Given the description of an element on the screen output the (x, y) to click on. 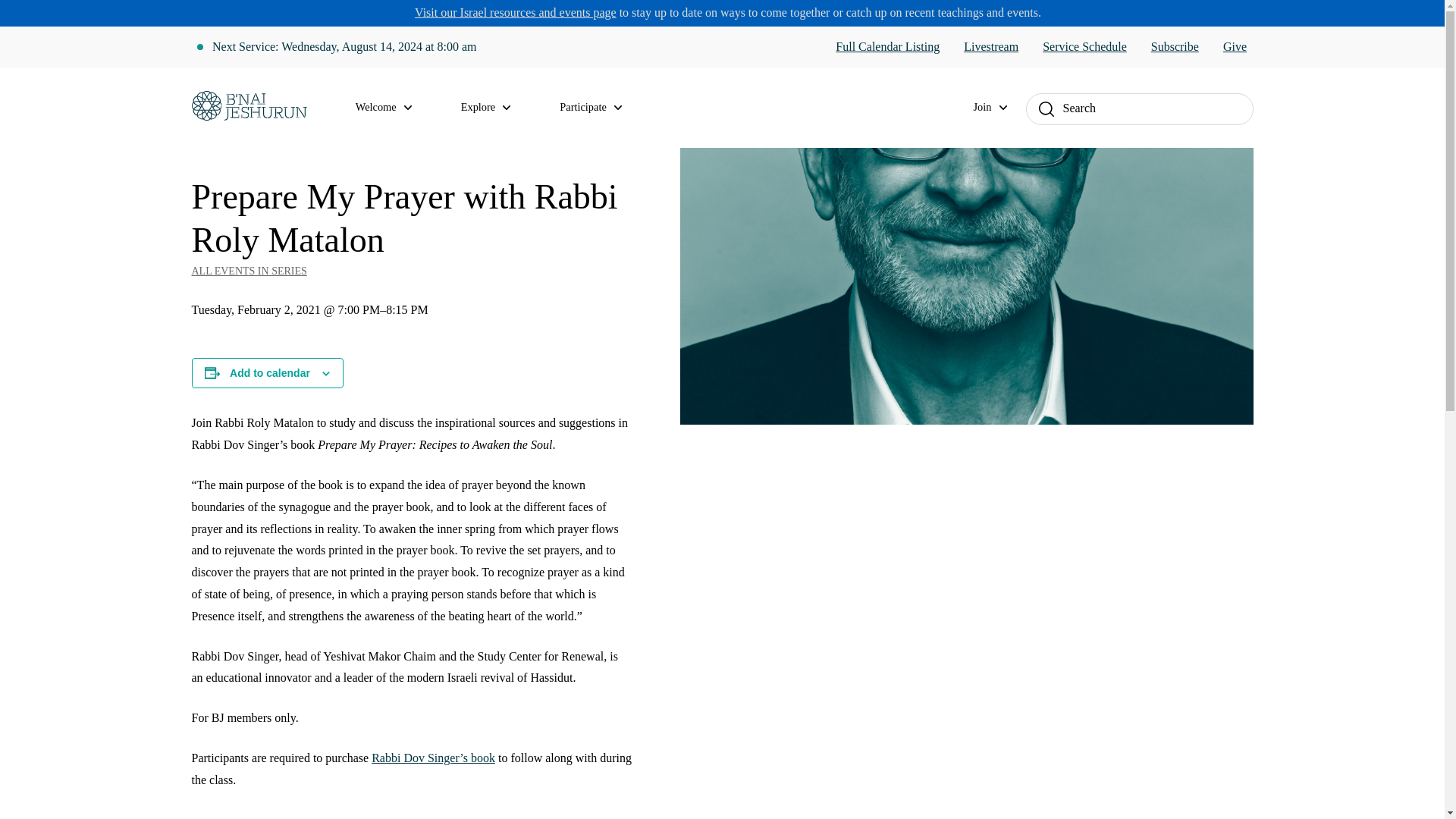
Welcome (392, 107)
Next Service: Wednesday, August 14, 2024 at 8:00 am (344, 47)
Visit our Israel resources and events page (514, 12)
Livestream (990, 47)
Service Schedule (1084, 47)
All events in series (410, 271)
Full Calendar Listing (887, 47)
Participate (599, 107)
Give (1234, 47)
Subscribe (1174, 47)
